Given the description of an element on the screen output the (x, y) to click on. 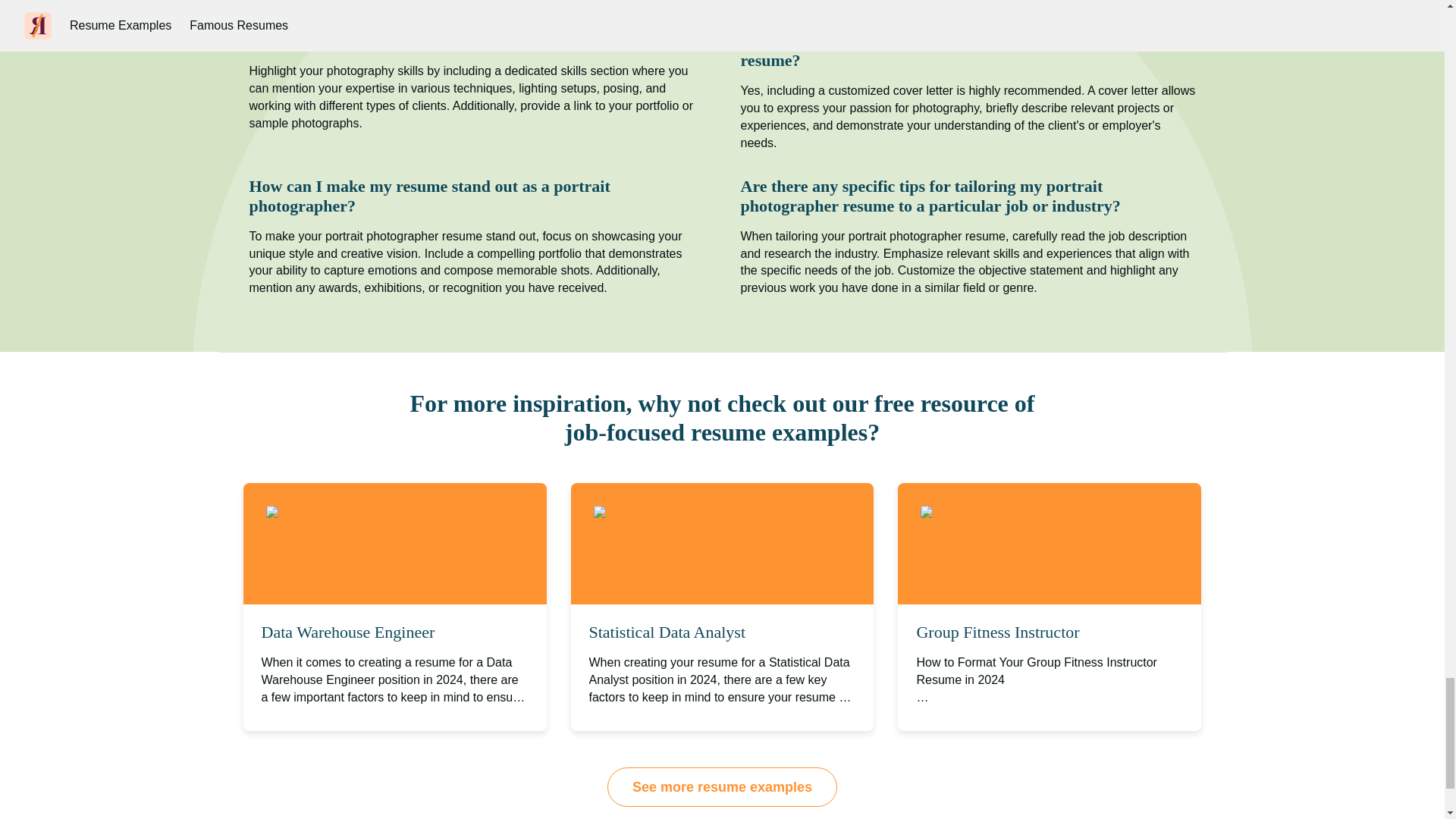
Statistical Data Analyst's resume (693, 513)
Group Fitness Instructor's resume (1024, 513)
Data Warehouse Engineer's resume (375, 513)
See more resume examples (722, 786)
